Given the description of an element on the screen output the (x, y) to click on. 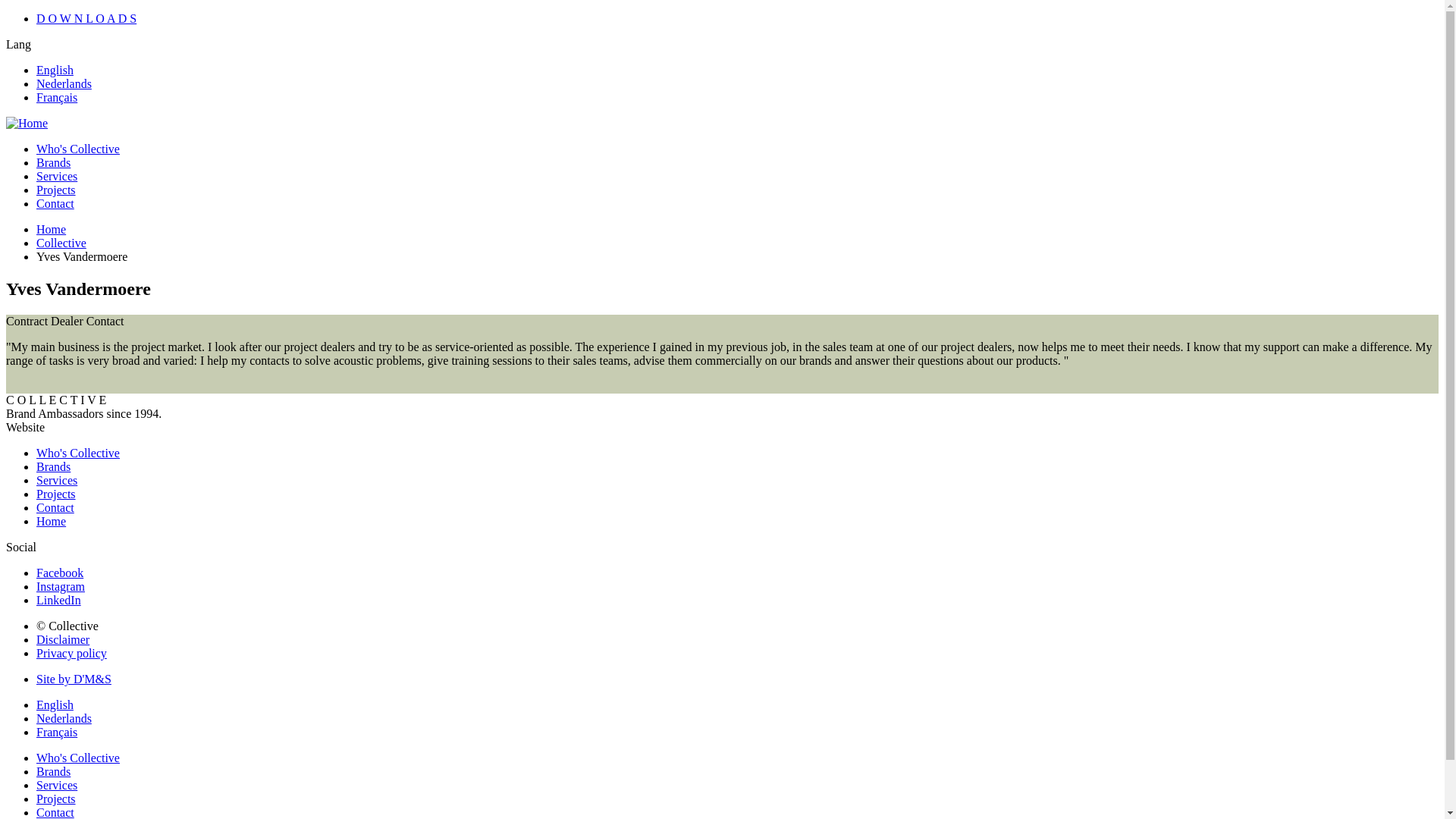
Contact (55, 203)
Instagram (60, 585)
Contact (55, 812)
Who's Collective (77, 452)
Brands (52, 162)
Home (50, 521)
Facebook (59, 572)
Contact (55, 507)
Projects (55, 493)
English (55, 69)
D O W N L O A D S (86, 18)
Nederlands (63, 717)
Projects (55, 189)
Services (56, 784)
Privacy policy (71, 653)
